Given the description of an element on the screen output the (x, y) to click on. 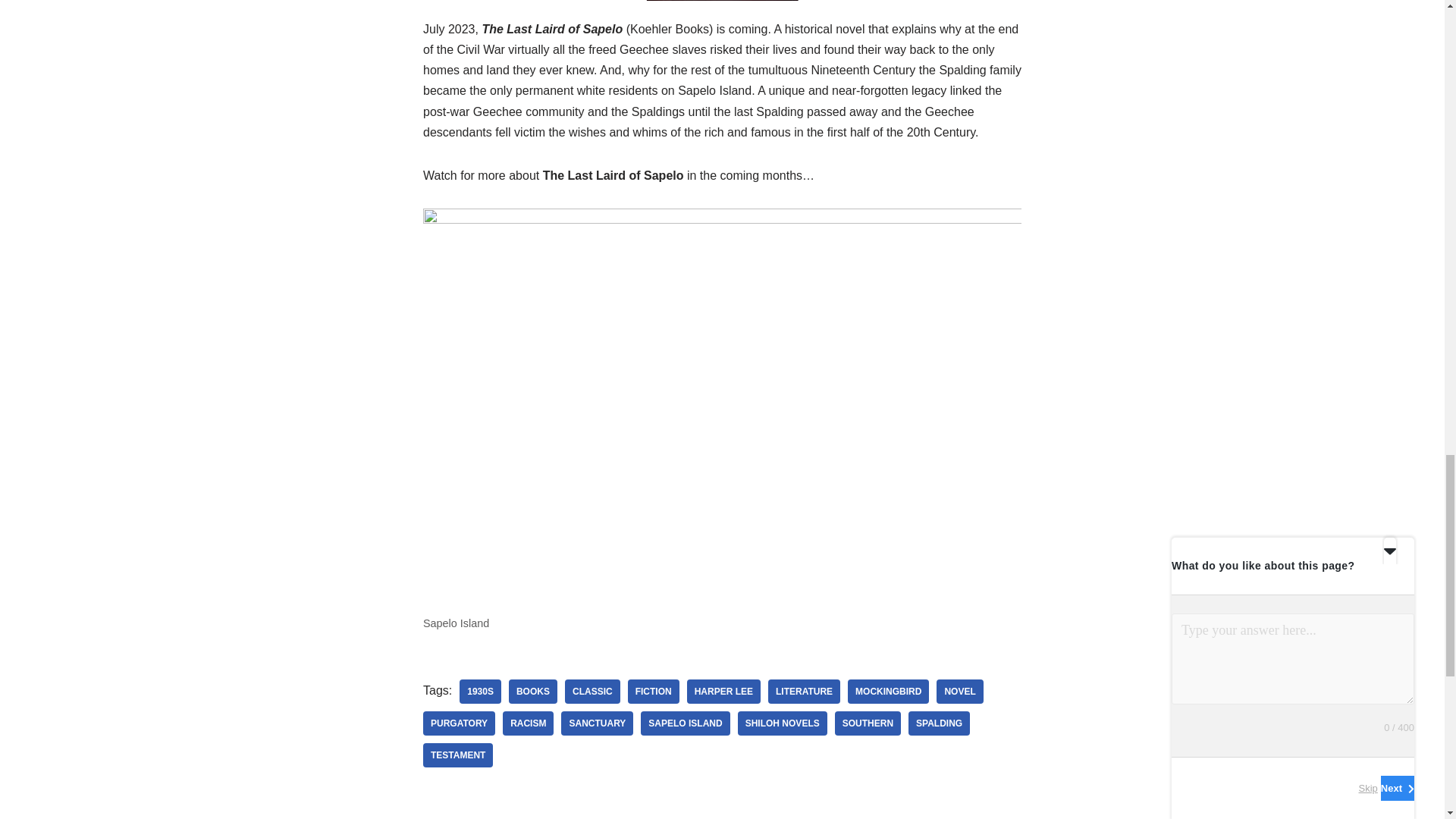
books (532, 691)
Racism (527, 723)
Harper Lee (723, 691)
literature (804, 691)
novel (959, 691)
fiction (653, 691)
1930s (480, 691)
Sanctuary (596, 723)
Mockingbird (887, 691)
purgatory (459, 723)
